Given the description of an element on the screen output the (x, y) to click on. 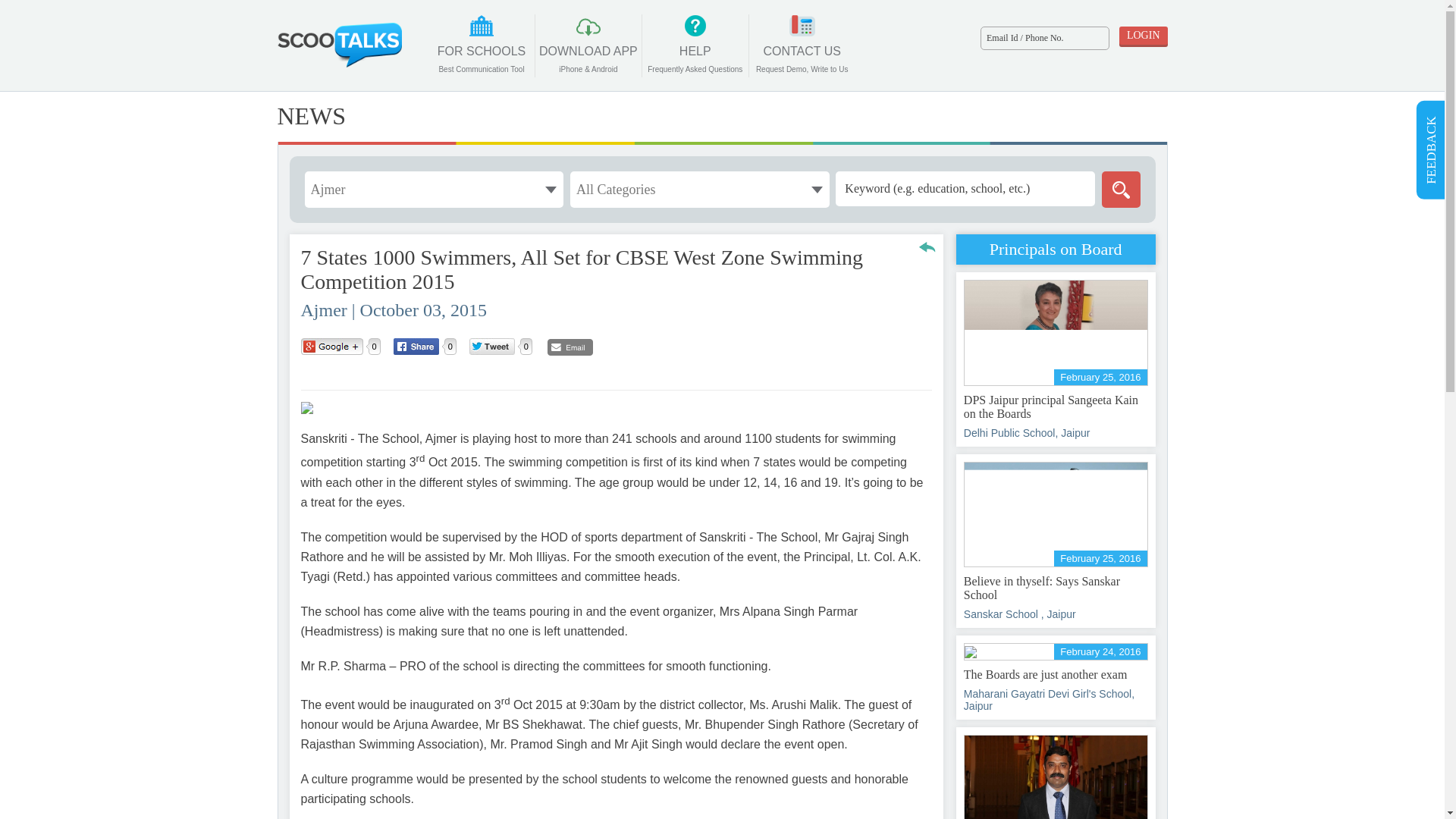
BACK (927, 246)
Contact us (802, 45)
Search (802, 45)
Download App (1121, 189)
Search (481, 45)
For School (588, 45)
Help (1121, 189)
LOGIN (481, 45)
